Given the description of an element on the screen output the (x, y) to click on. 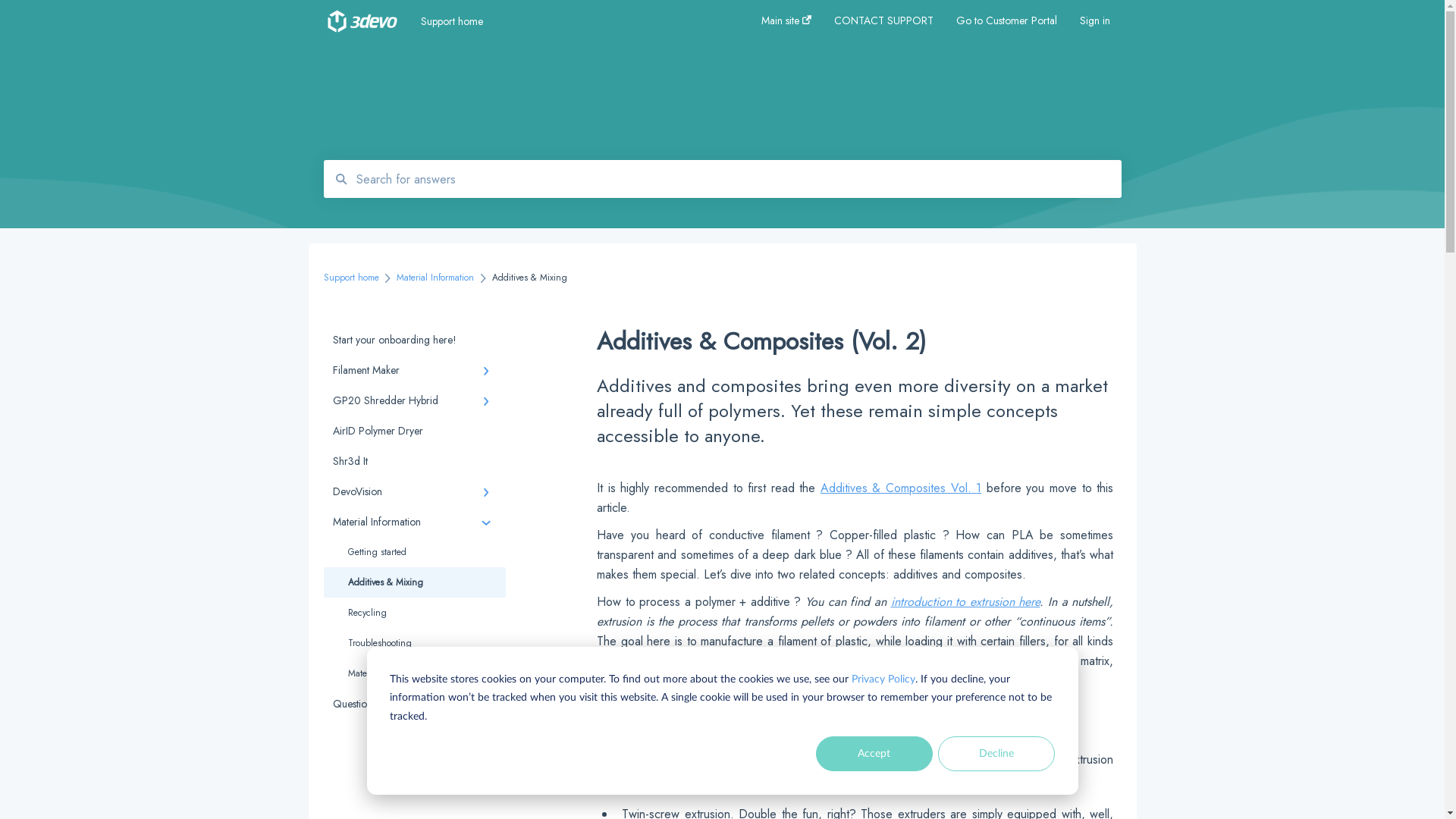
Material reports & tips Element type: text (414, 673)
Getting started Element type: text (414, 551)
Support home Element type: text (567, 20)
Questions and answers Element type: text (414, 703)
Recycling Element type: text (414, 612)
Filament Maker Element type: text (414, 369)
Troubleshooting Element type: text (414, 642)
Additives & Mixing Element type: text (414, 582)
Start your onboarding here! Element type: text (414, 339)
GP20 Shredder Hybrid Element type: text (414, 400)
DevoVision Element type: text (414, 491)
Shr3d It Element type: text (414, 460)
Support home Element type: text (350, 277)
Additives & Composites Vol. 1 Element type: text (900, 487)
Material Information Element type: text (414, 521)
AirID Polymer Dryer Element type: text (414, 430)
Material Information Element type: text (434, 277)
introduction to extrusion here Element type: text (964, 601)
Privacy Policy Element type: text (883, 679)
Accept Element type: text (873, 753)
Decline Element type: text (996, 753)
